Given the description of an element on the screen output the (x, y) to click on. 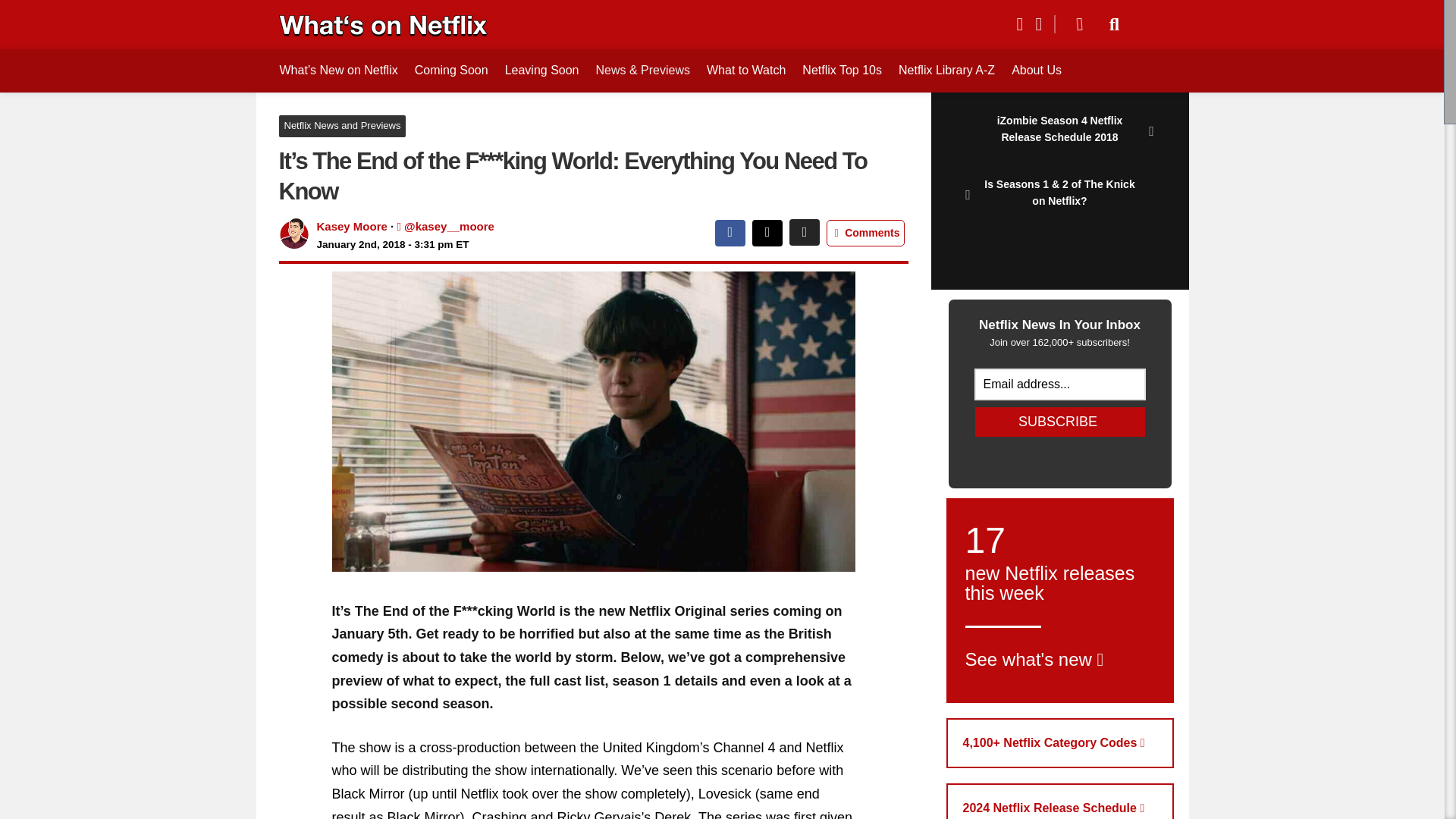
Leaving Soon (541, 70)
2024 Netflix Release Schedule (1059, 800)
Netflix News and Previews (342, 126)
Search What's on Netflix (1114, 24)
Comments (865, 233)
Subscribe  (1059, 421)
What to Watch (746, 70)
Coming Soon (451, 70)
Take Action Now! (111, 14)
Every Netflix Category Code (1059, 599)
Subscribe  (1059, 742)
Netflix Top 10s (1059, 421)
Netflix Library A-Z (842, 70)
Posts by Kasey Moore (946, 70)
